Given the description of an element on the screen output the (x, y) to click on. 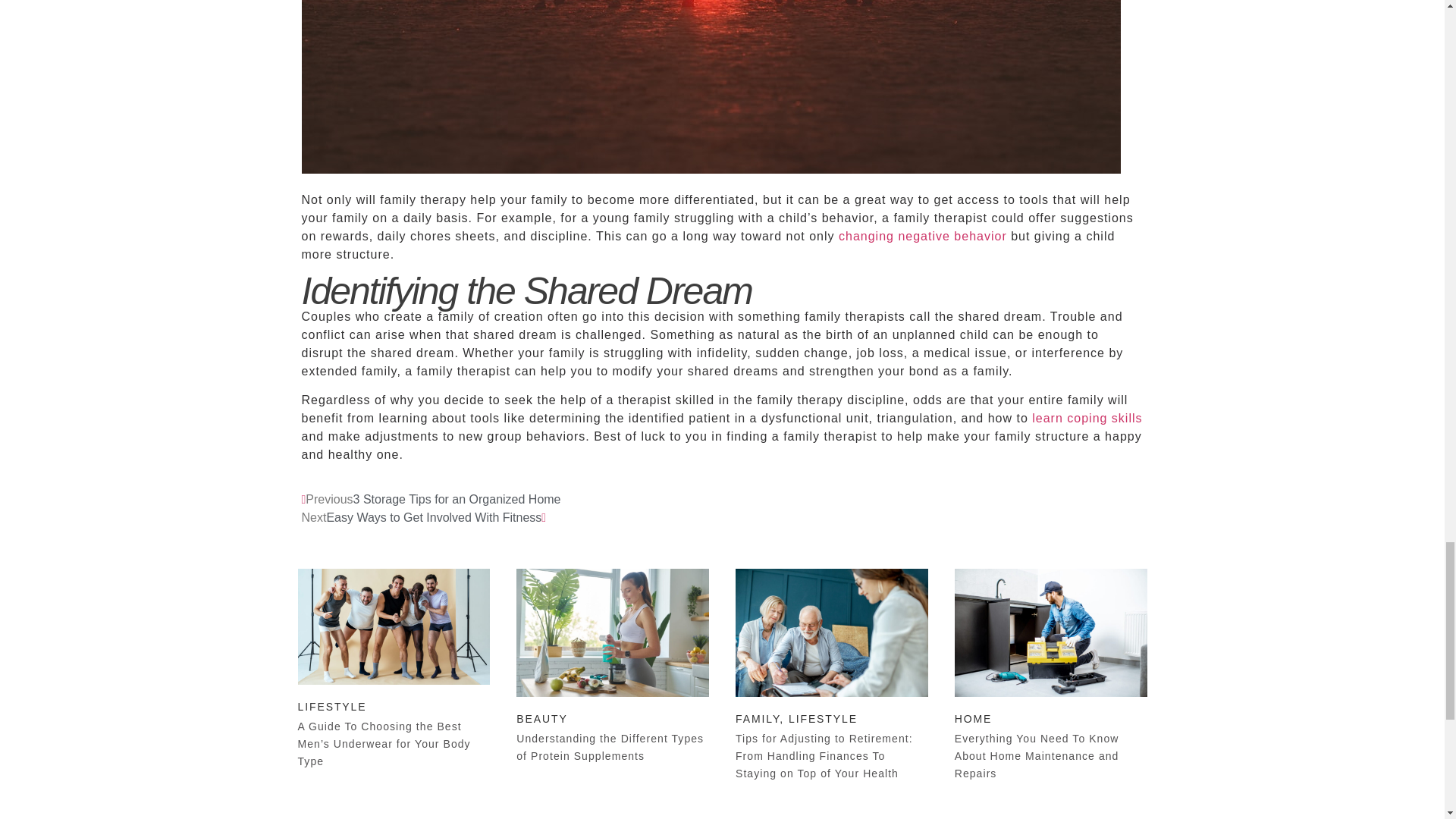
HOME (973, 718)
BEAUTY (541, 718)
FAMILY (756, 718)
LIFESTYLE (331, 706)
learn coping skills (1086, 418)
Understanding the Different Types of Protein Supplements (609, 747)
LIFESTYLE (823, 718)
changing negative behavior (922, 236)
Previous3 Storage Tips for an Organized Home (430, 499)
NextEasy Ways to Get Involved With Fitness (424, 517)
